Given the description of an element on the screen output the (x, y) to click on. 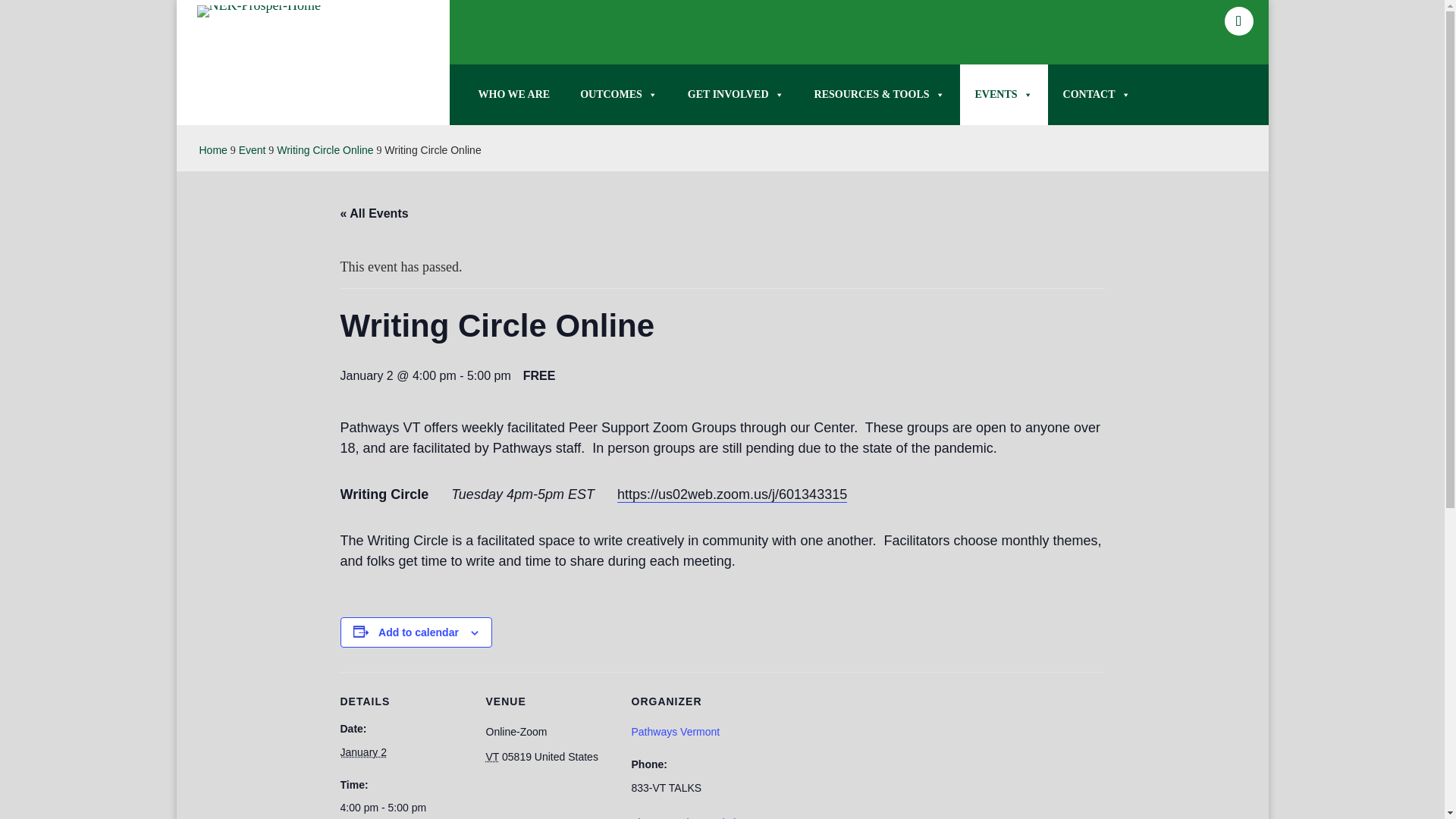
Become a part of NEK Prosper! (735, 94)
GET INVOLVED (735, 94)
Who is NEK Prosper? (513, 94)
WHO WE ARE (513, 94)
Contact form to reach out to NEK Prosper! (1096, 94)
NEK-Prosper-Home (258, 10)
Follow on Facebook (1238, 21)
NEK Prosper event calendar. (1003, 94)
OUTCOMES (618, 94)
